Given the description of an element on the screen output the (x, y) to click on. 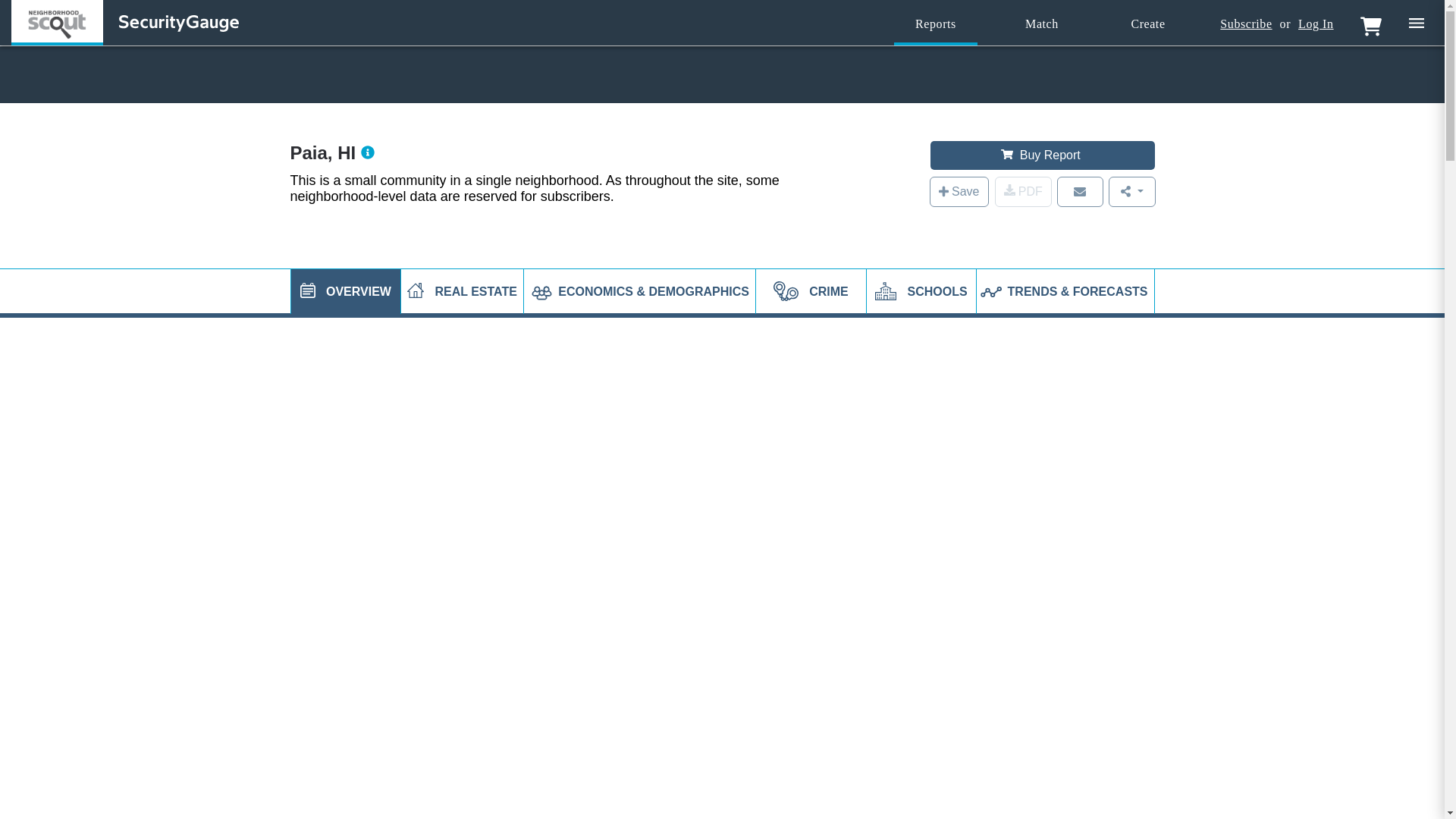
Reports (934, 24)
Match (1041, 24)
Log In (1315, 24)
Subscribe (1245, 24)
Create (1147, 24)
j (307, 290)
